Given the description of an element on the screen output the (x, y) to click on. 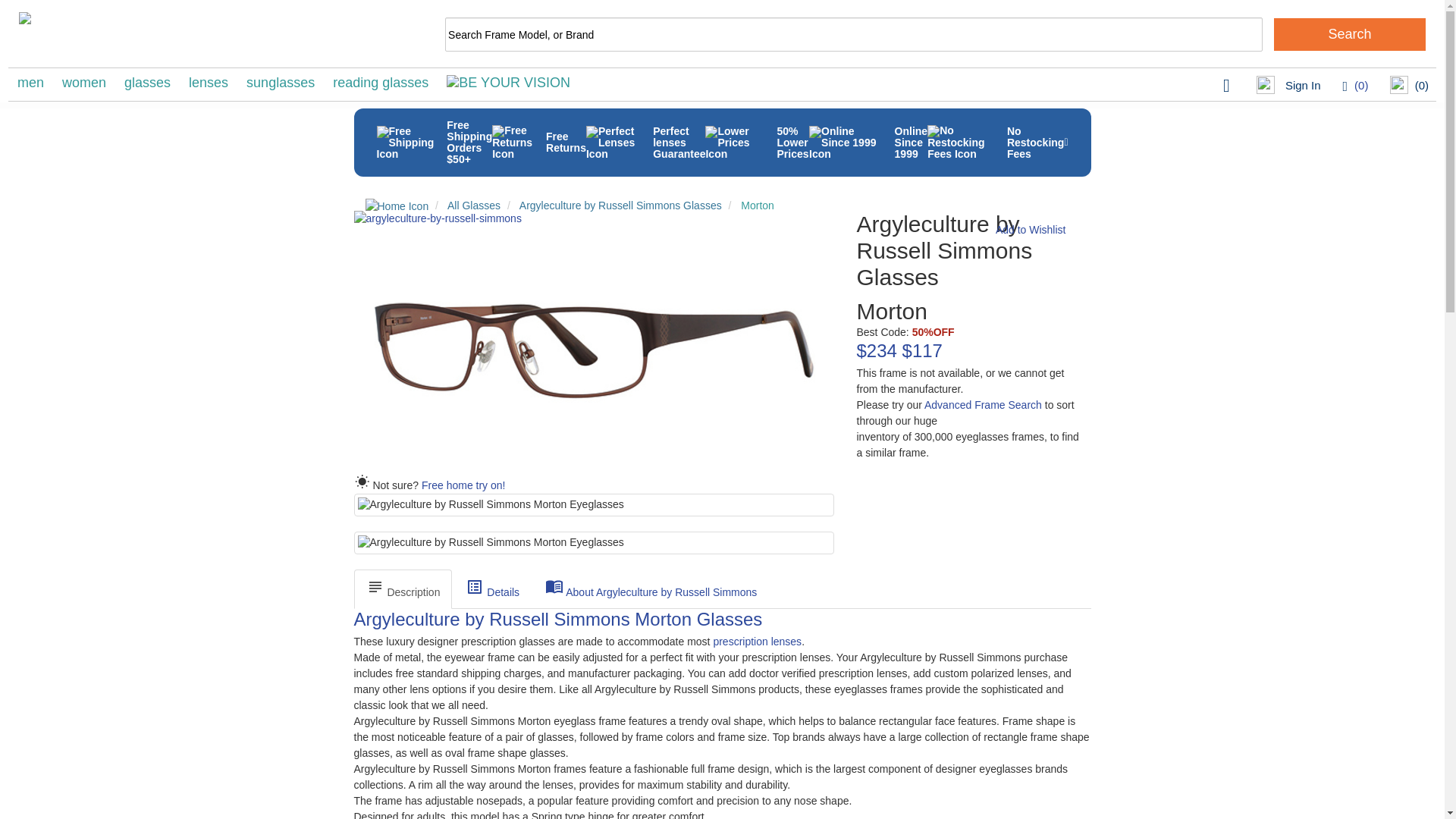
men (30, 82)
Wishlist (1355, 85)
Eyeglasses.com (147, 34)
Sign In (1288, 86)
Shopping Cart (1409, 86)
Search (1349, 34)
Search (1349, 34)
  Sign In (1288, 86)
